Given the description of an element on the screen output the (x, y) to click on. 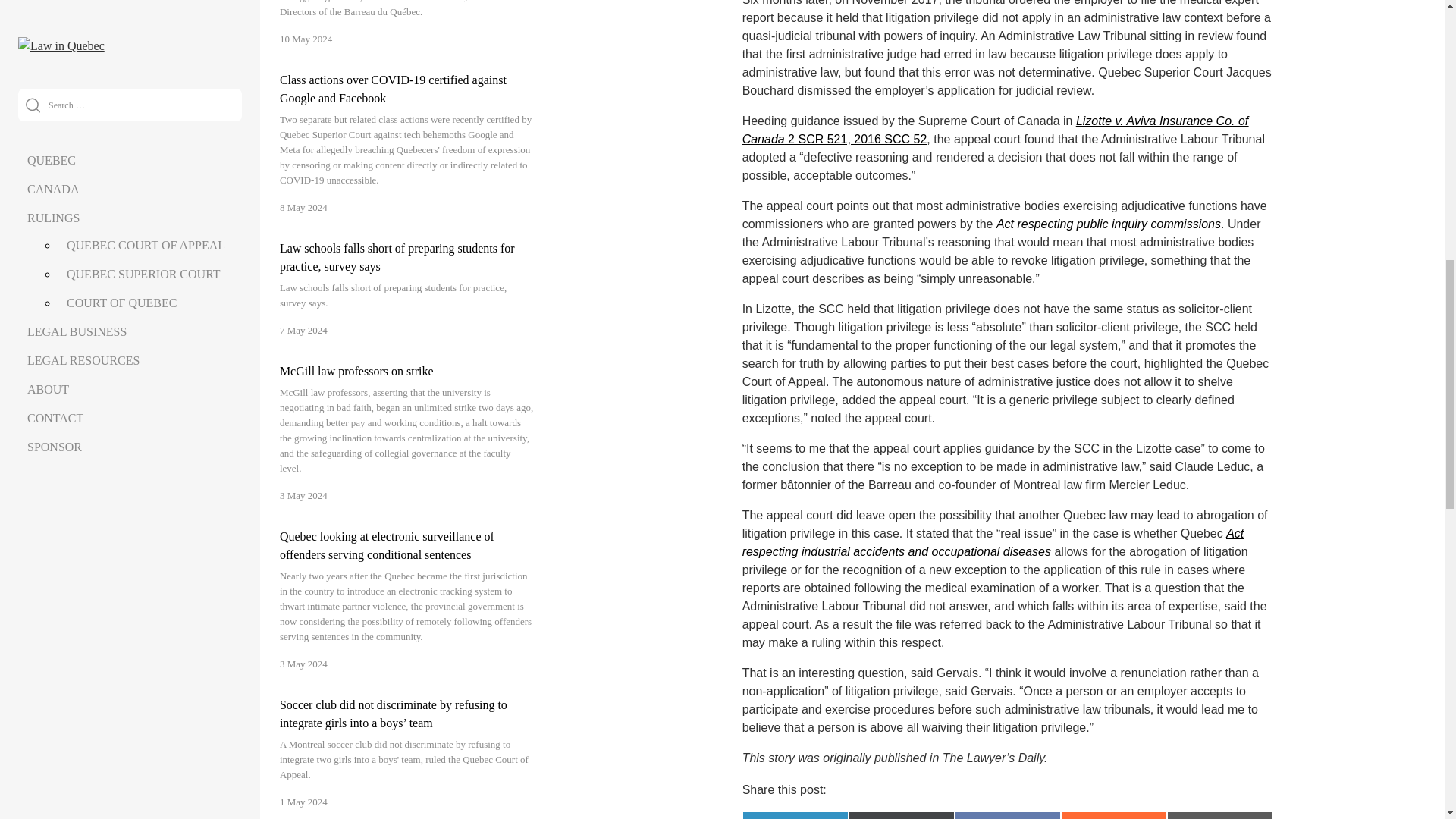
Share on LinkedIn (795, 815)
